Given the description of an element on the screen output the (x, y) to click on. 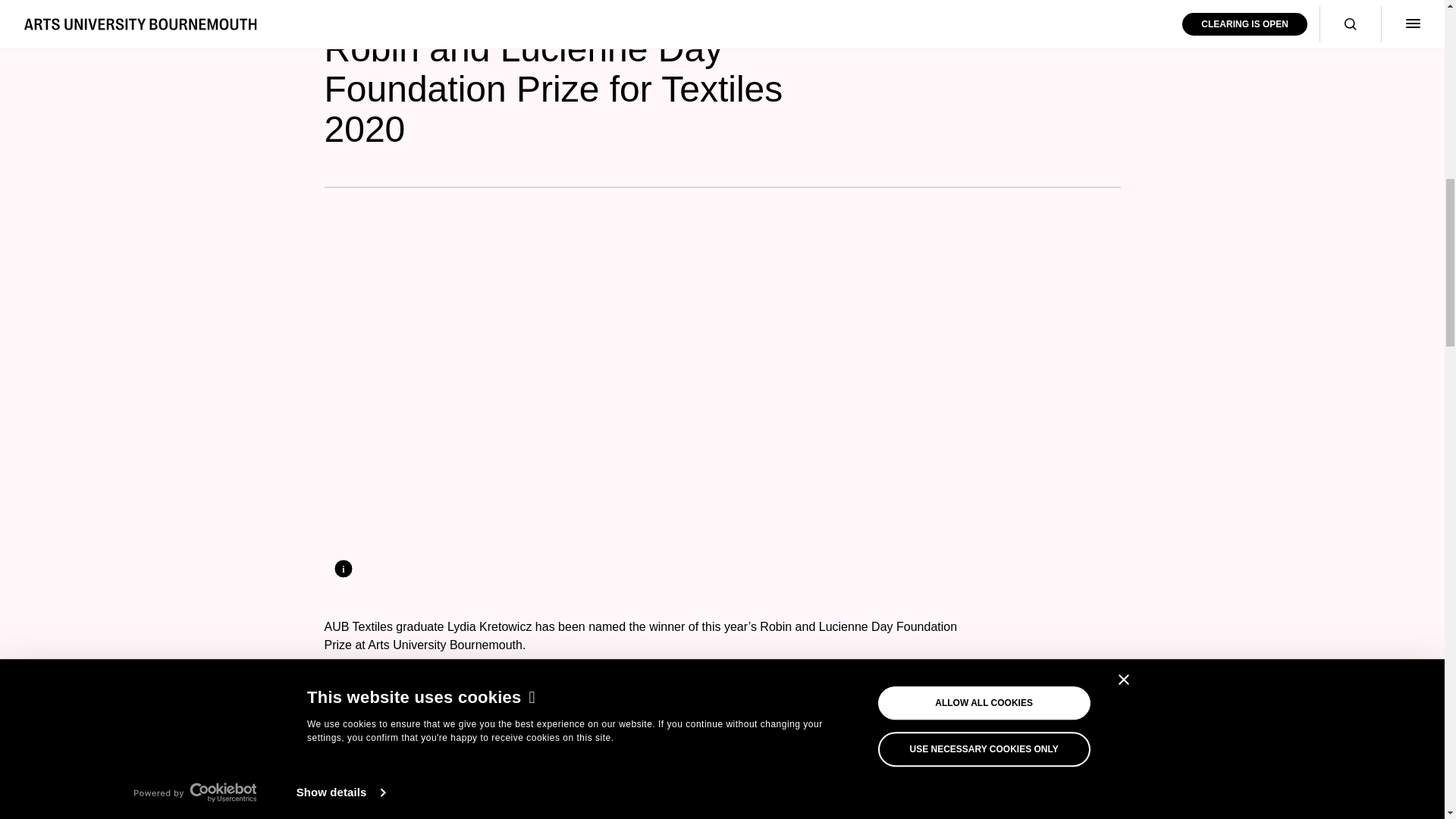
i (343, 568)
